Given the description of an element on the screen output the (x, y) to click on. 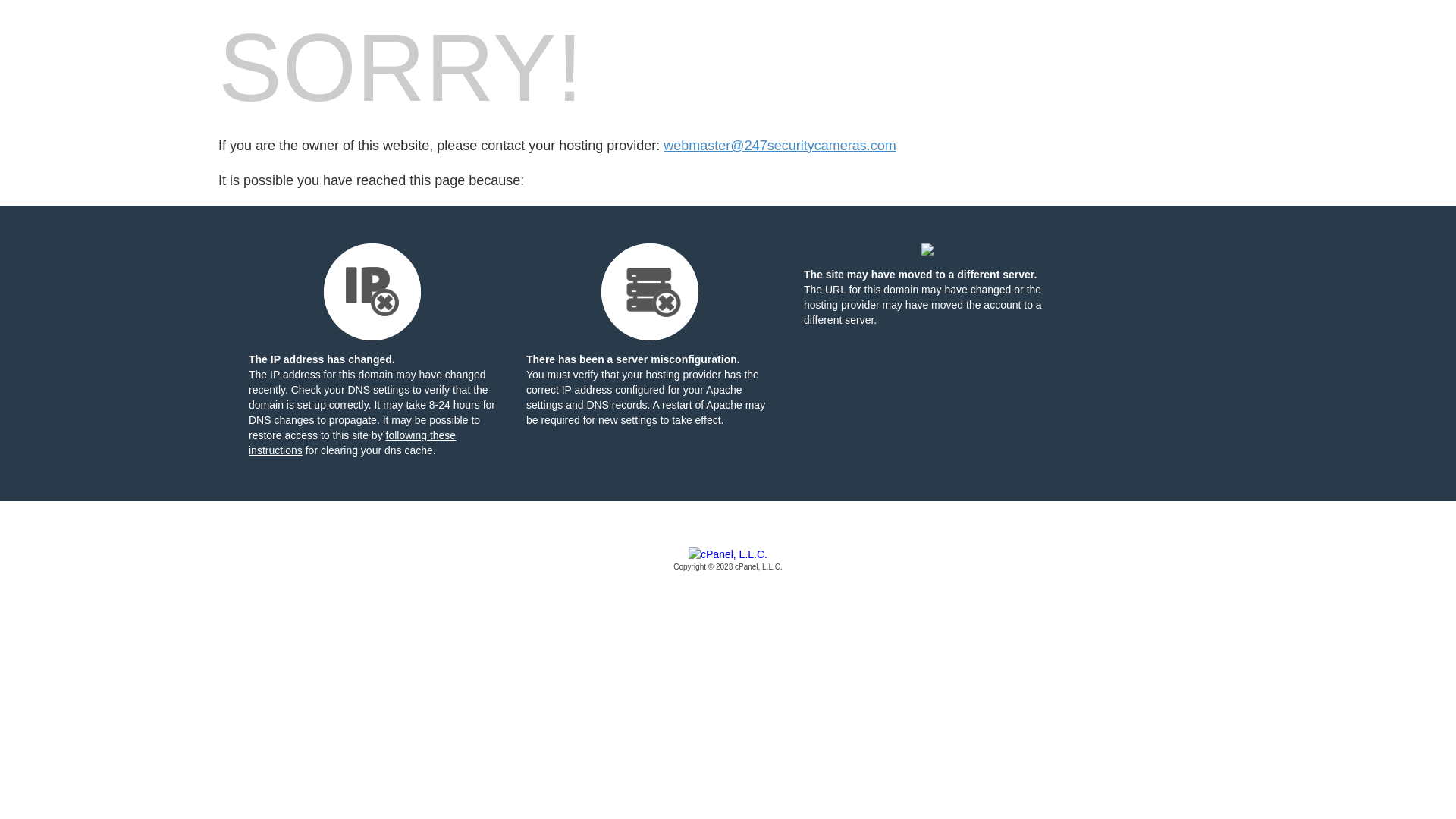
webmaster@247securitycameras.com Element type: text (779, 145)
following these instructions Element type: text (351, 442)
